Given the description of an element on the screen output the (x, y) to click on. 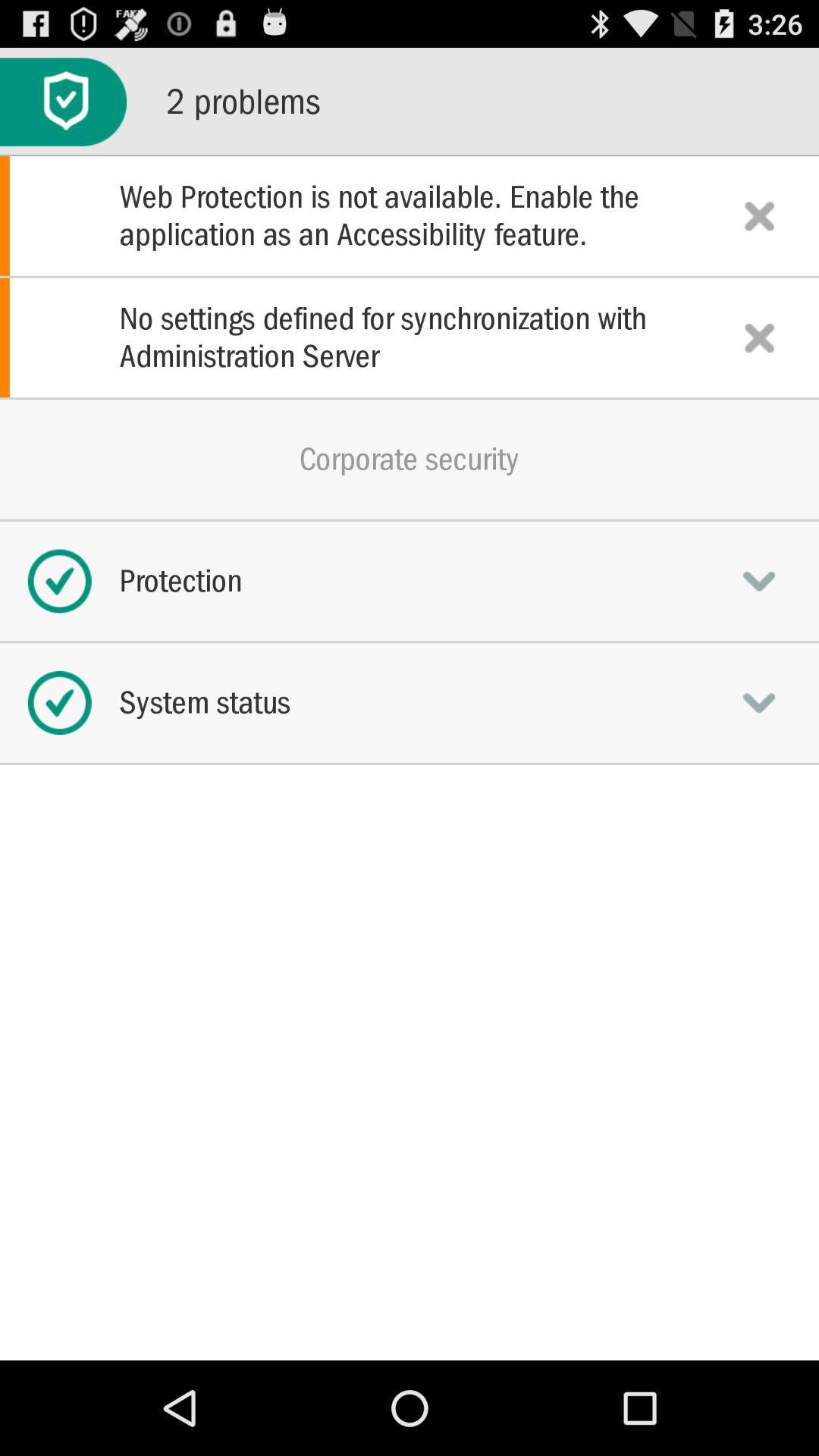
turn off the corporate security (409, 459)
